Given the description of an element on the screen output the (x, y) to click on. 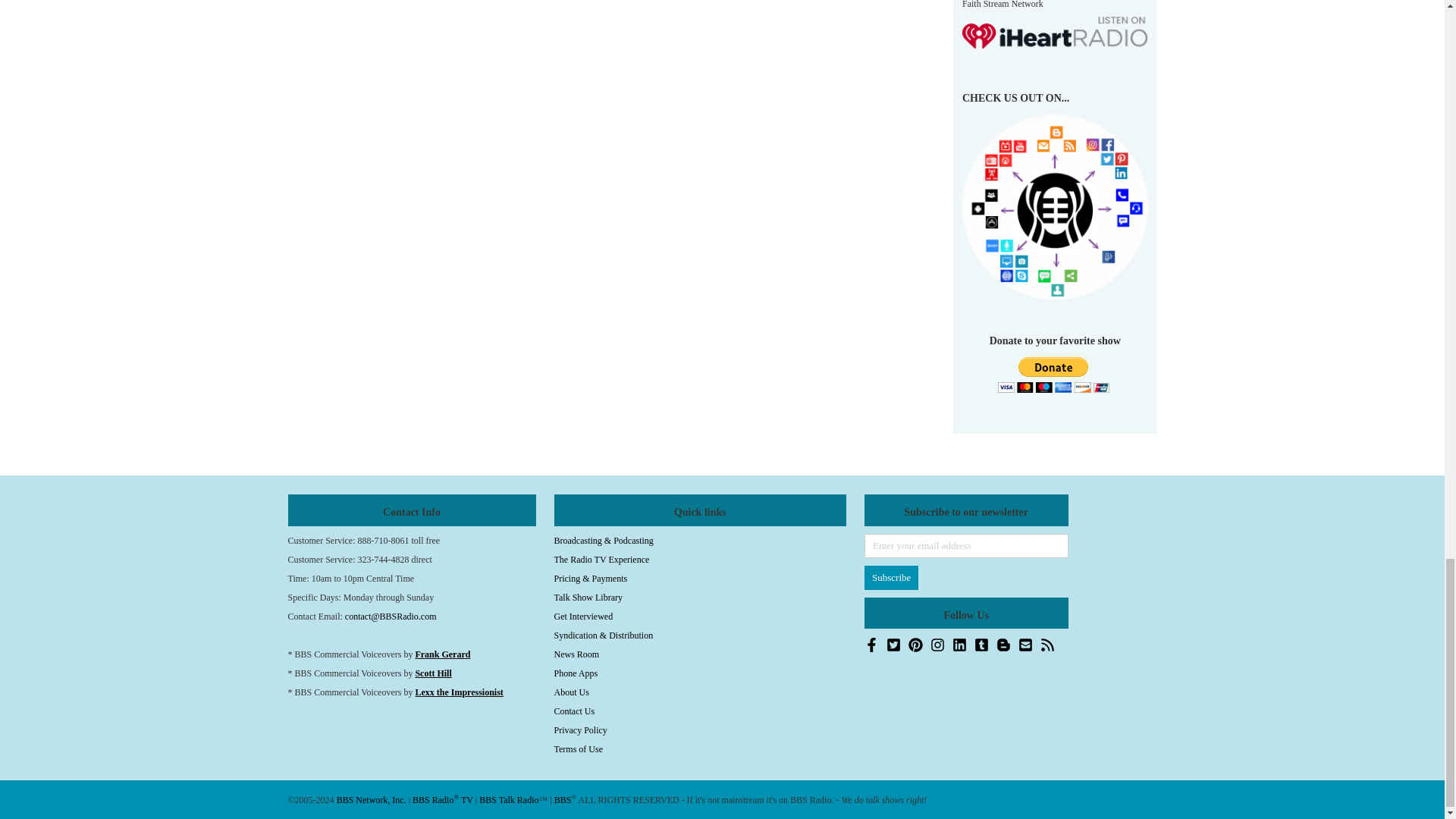
Subscribe (891, 577)
